Given the description of an element on the screen output the (x, y) to click on. 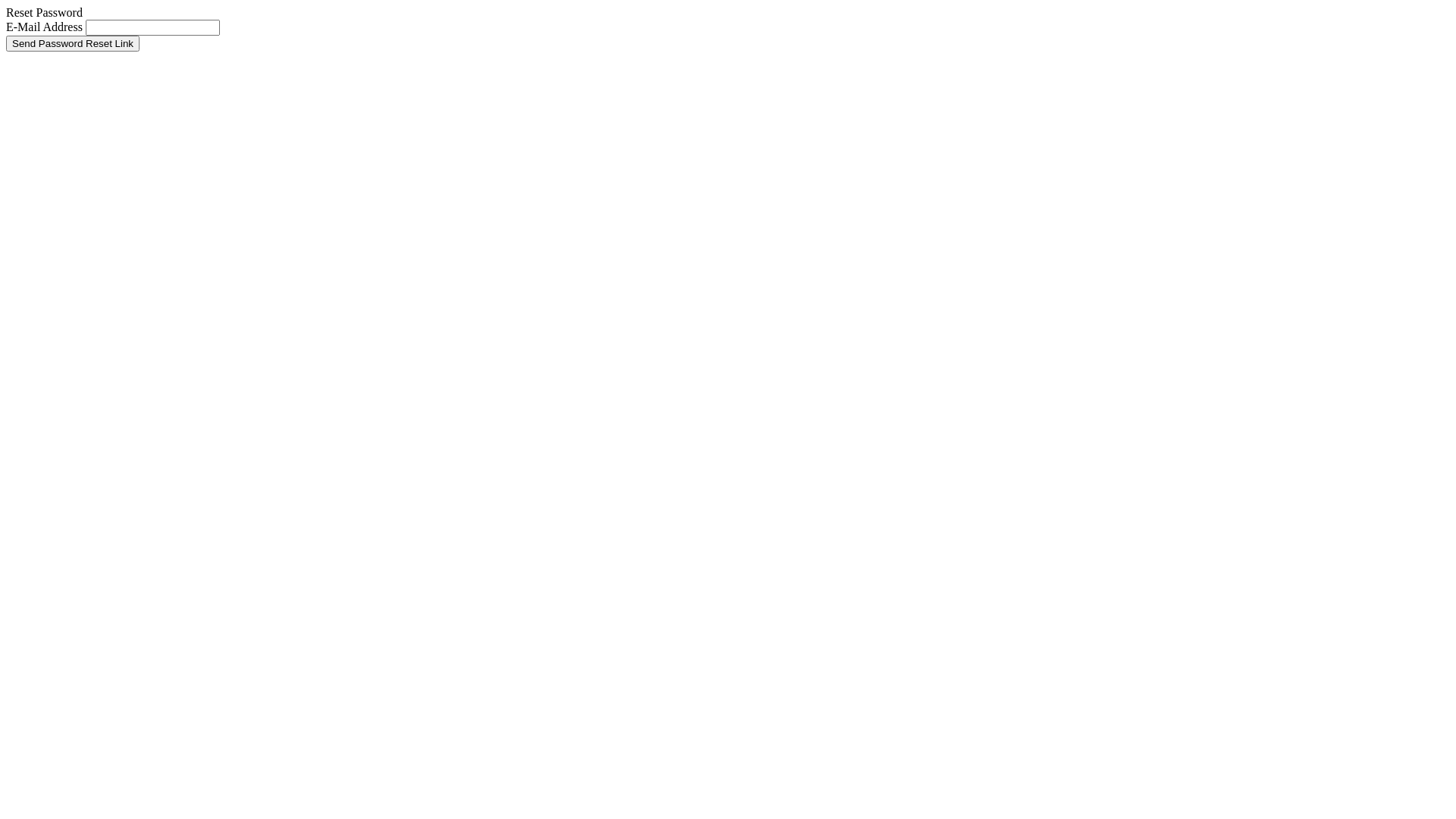
Send Password Reset Link Element type: text (72, 43)
